Given the description of an element on the screen output the (x, y) to click on. 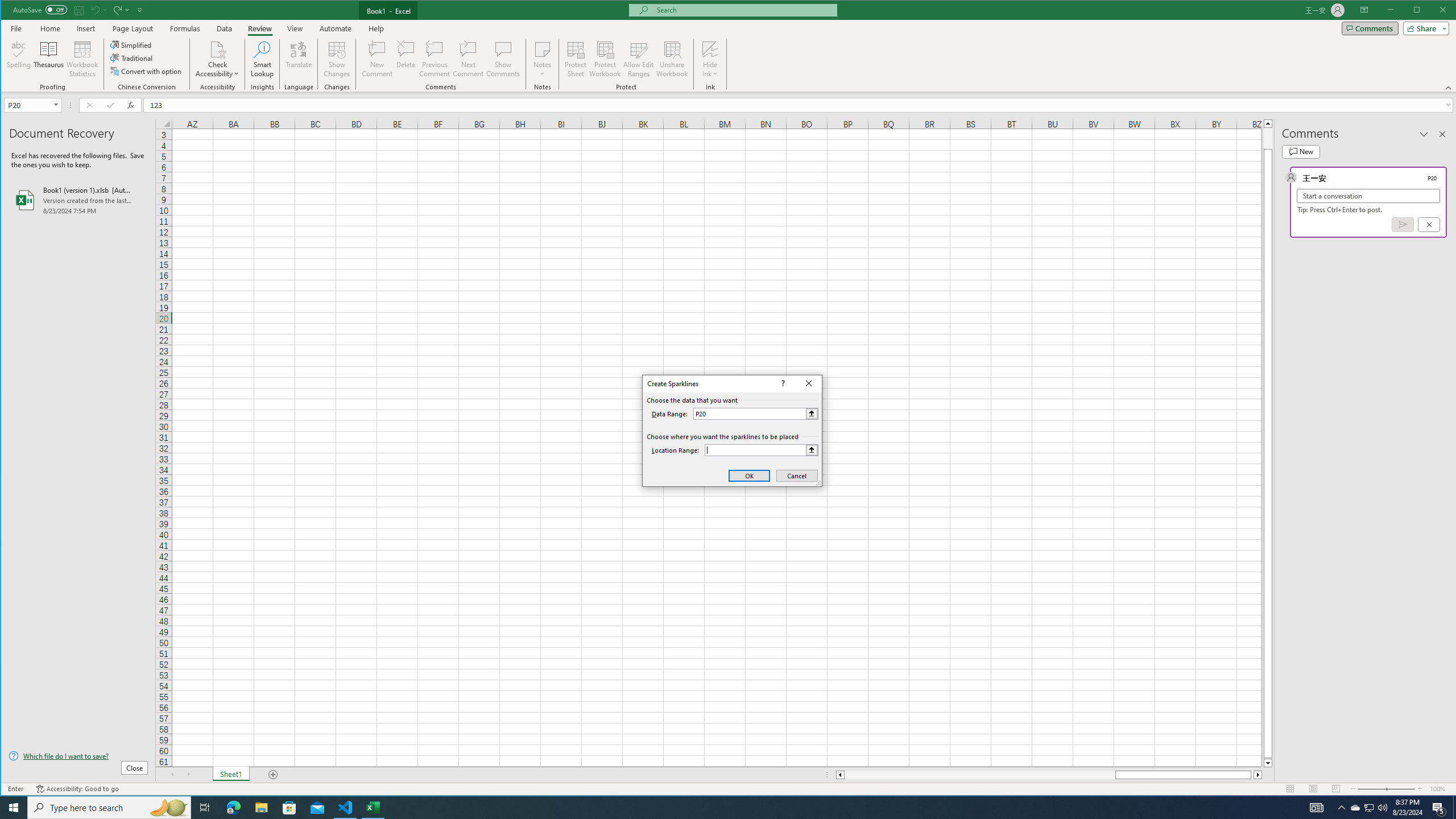
OK (749, 475)
Microsoft Store (289, 807)
Post comment (Ctrl + Enter) (1402, 224)
Visual Studio Code - 1 running window (345, 807)
Start a conversation (1368, 195)
Allow Edit Ranges (638, 59)
Page left (979, 774)
Spelling... (18, 59)
